Given the description of an element on the screen output the (x, y) to click on. 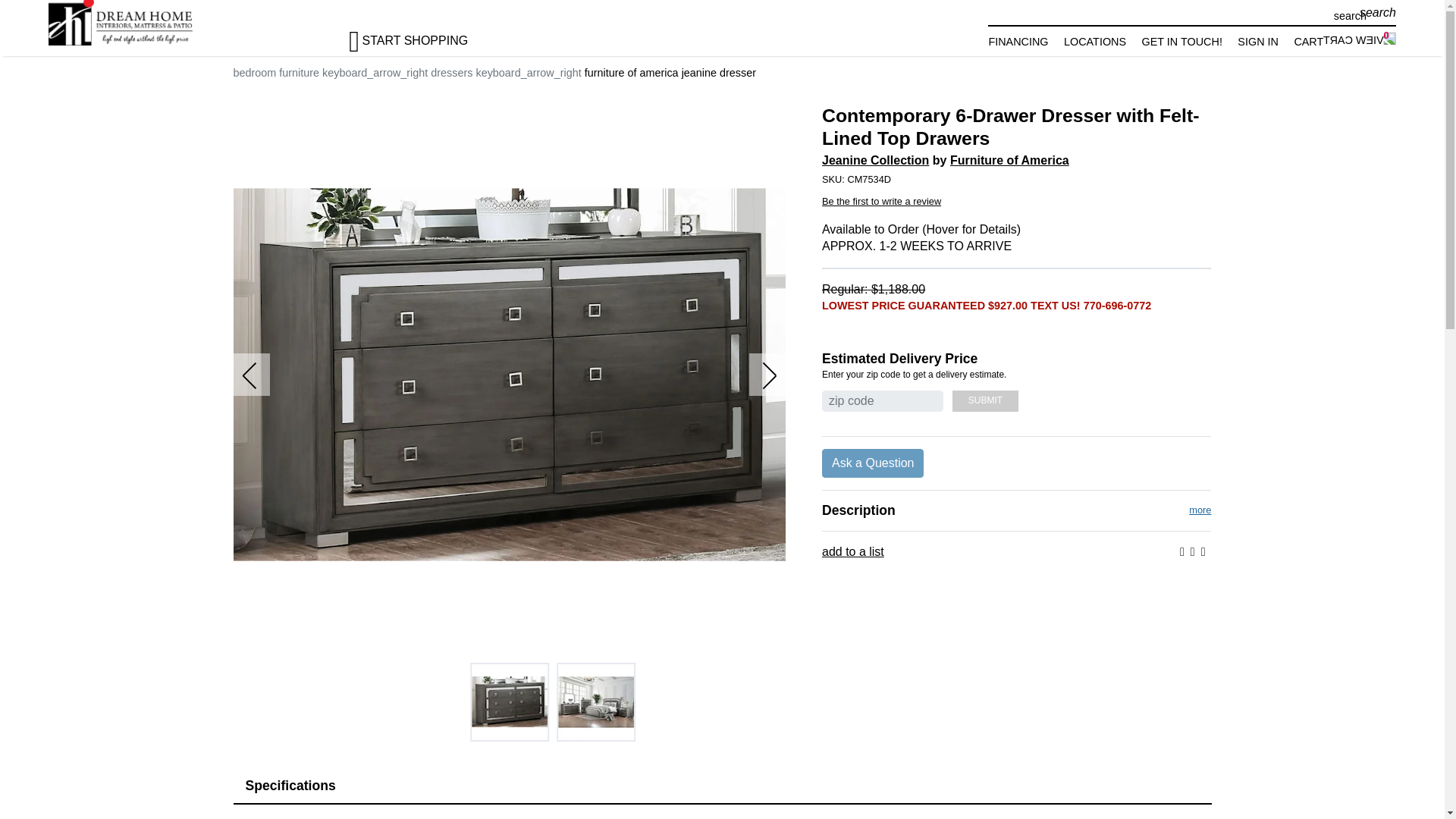
CM7534D (1016, 179)
Pin this product (1203, 551)
Tweet about this product (1193, 551)
START SHOPPING (422, 34)
Share this product on Facebook (1182, 551)
